Given the description of an element on the screen output the (x, y) to click on. 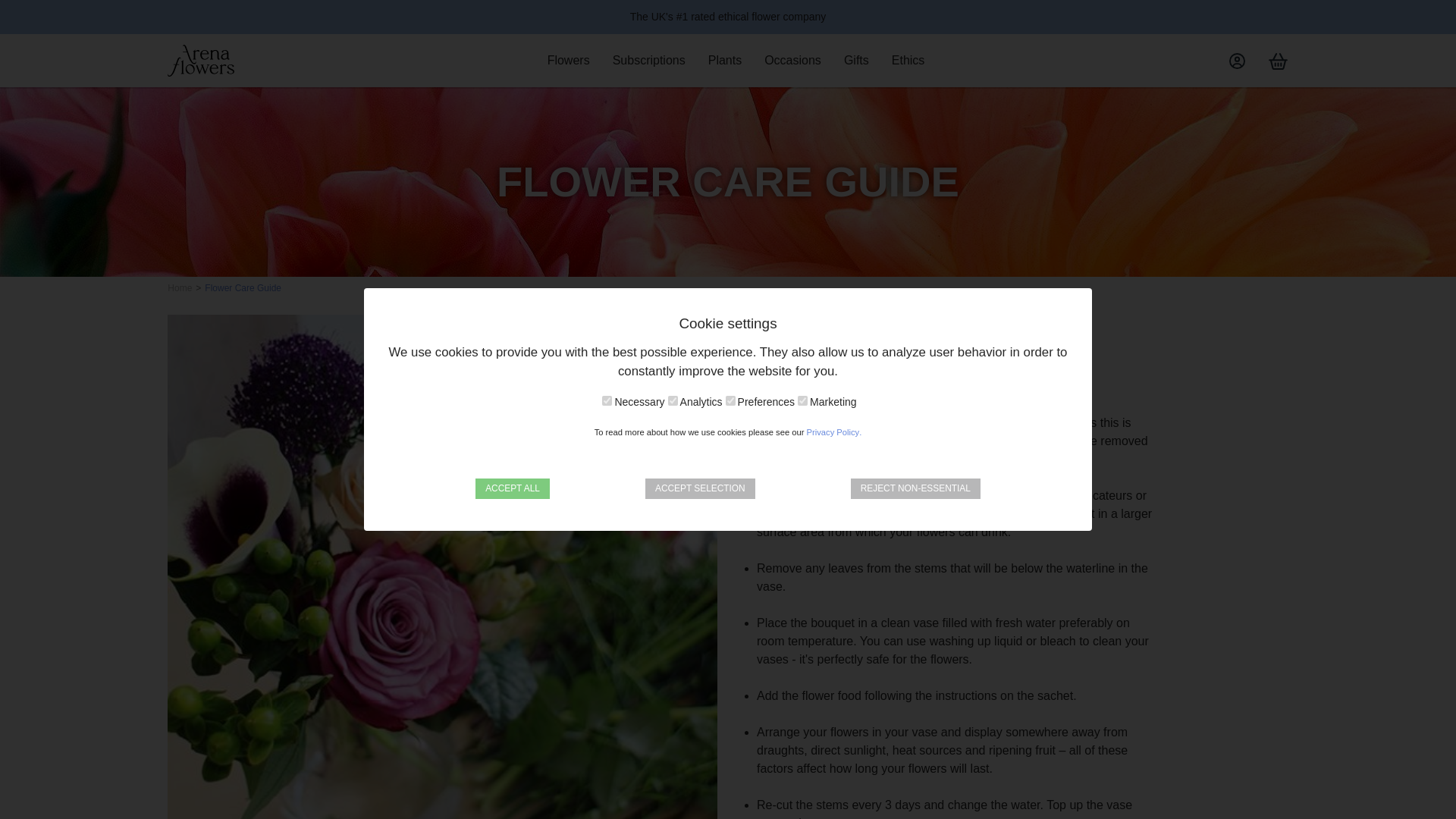
Marketing (802, 400)
Account (1236, 60)
Analytics (673, 400)
Cart (1278, 61)
Preferences (730, 400)
Ethics (908, 59)
Necessary (606, 400)
Flowers (568, 59)
Plants (724, 59)
Subscriptions (649, 59)
